Given the description of an element on the screen output the (x, y) to click on. 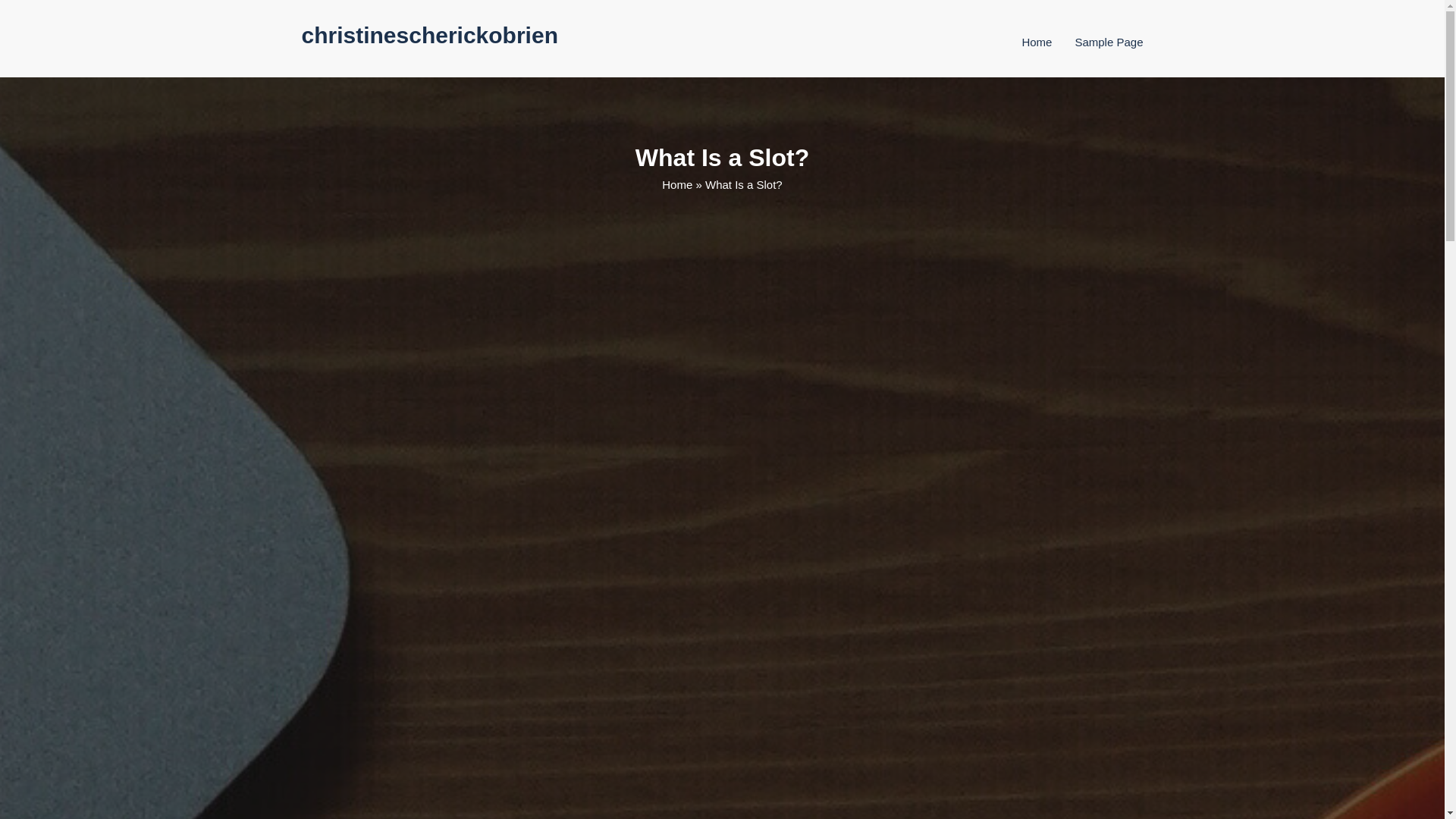
Home (1036, 41)
Home (1036, 41)
Home (677, 184)
christinescherickobrien (429, 34)
Sample Page (1108, 41)
